Given the description of an element on the screen output the (x, y) to click on. 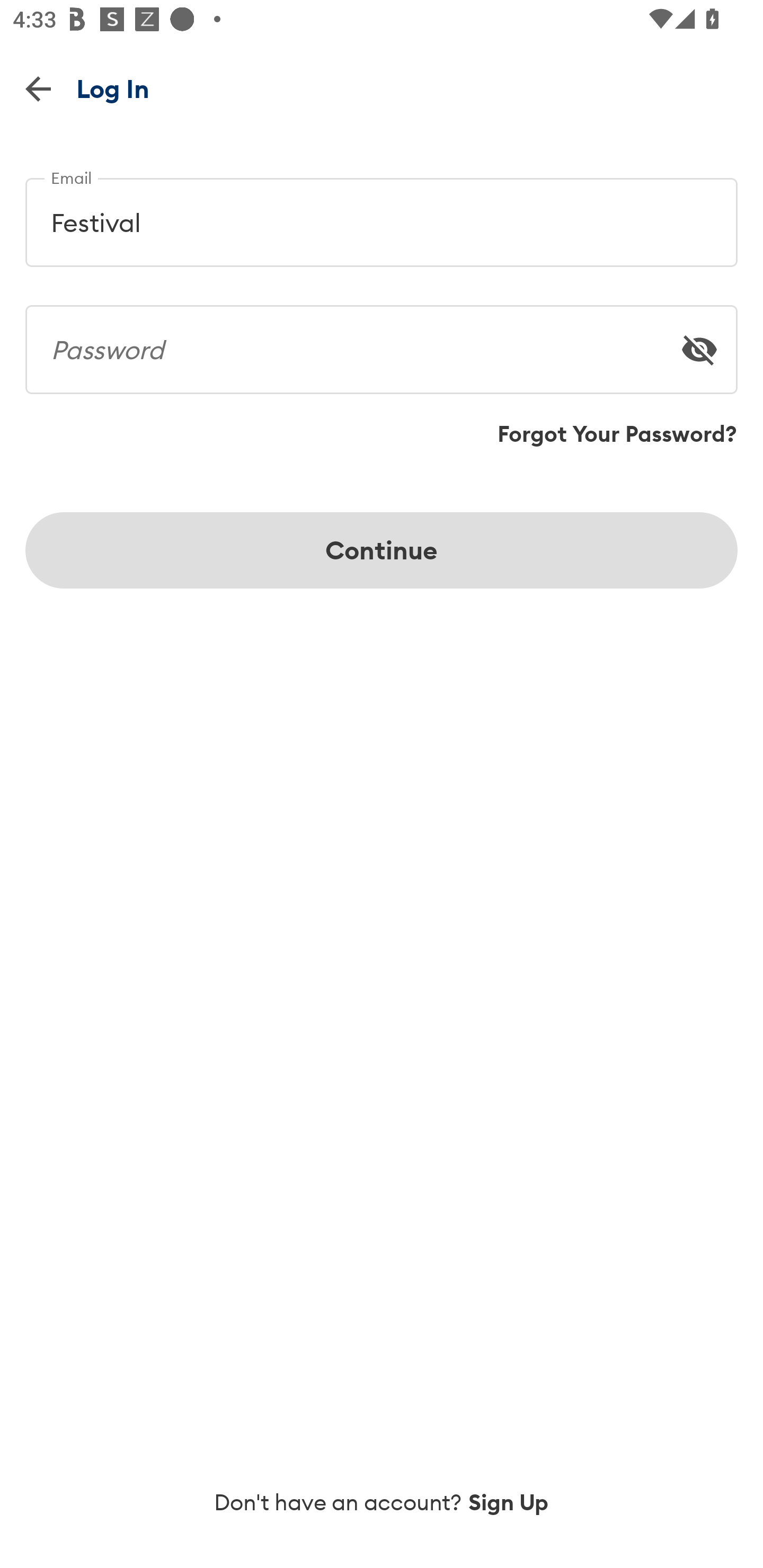
Back (38, 88)
Festival Email (381, 215)
Password (381, 342)
Forgot Your Password? (617, 433)
Continue (381, 550)
Sign Up (508, 1502)
